Given the description of an element on the screen output the (x, y) to click on. 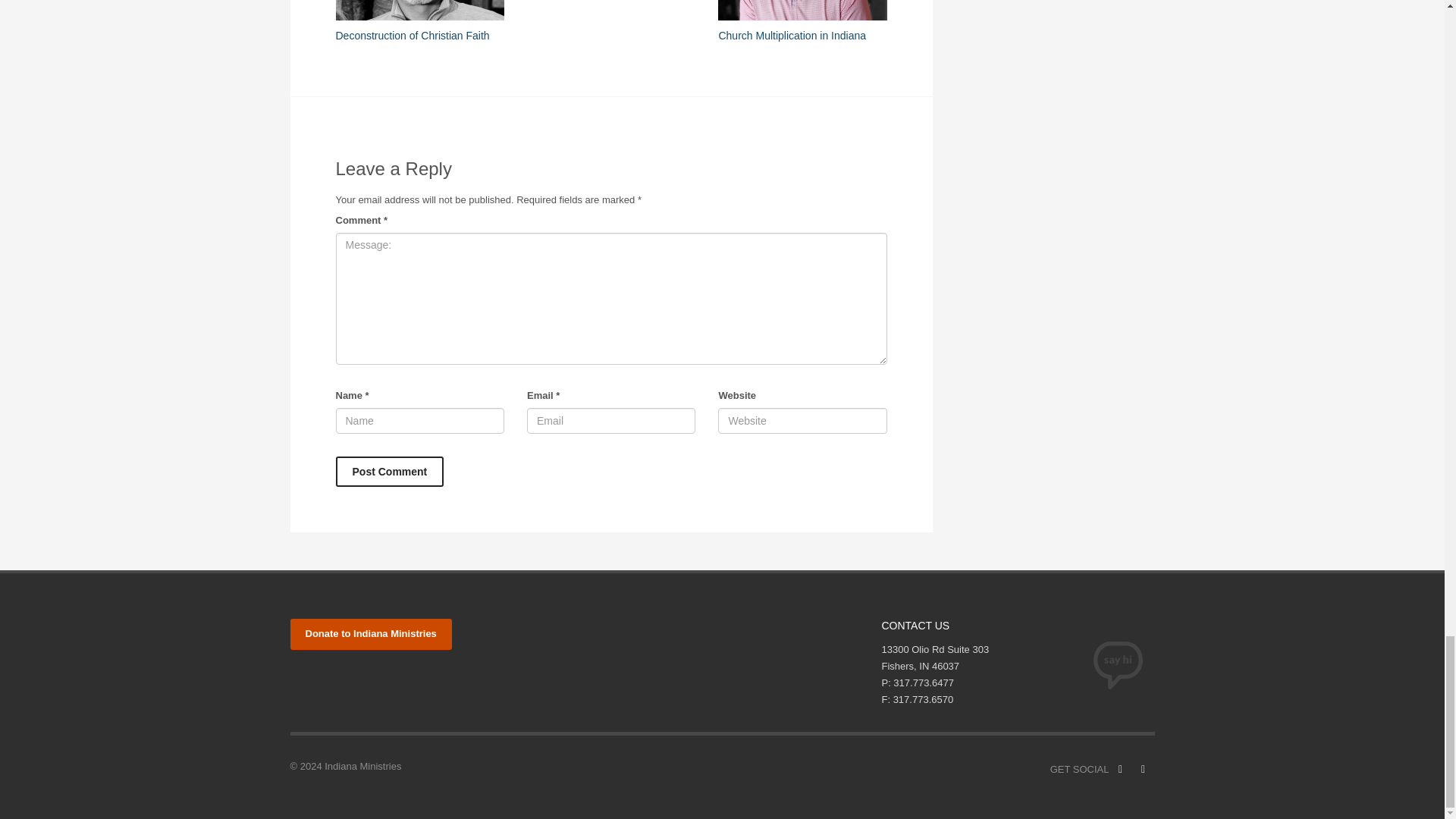
tom planck (801, 10)
Post Comment (389, 471)
Jeff (418, 10)
